Given the description of an element on the screen output the (x, y) to click on. 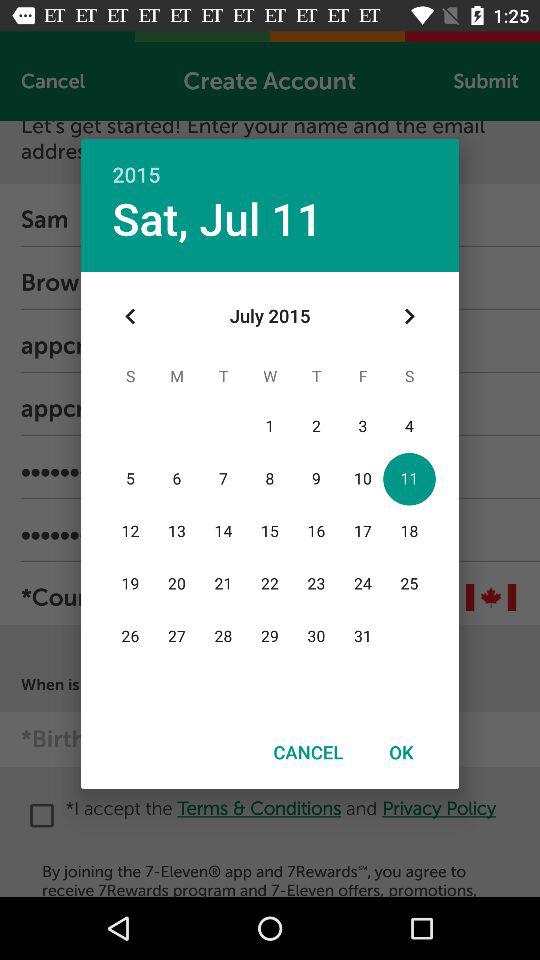
flip to cancel (308, 751)
